Given the description of an element on the screen output the (x, y) to click on. 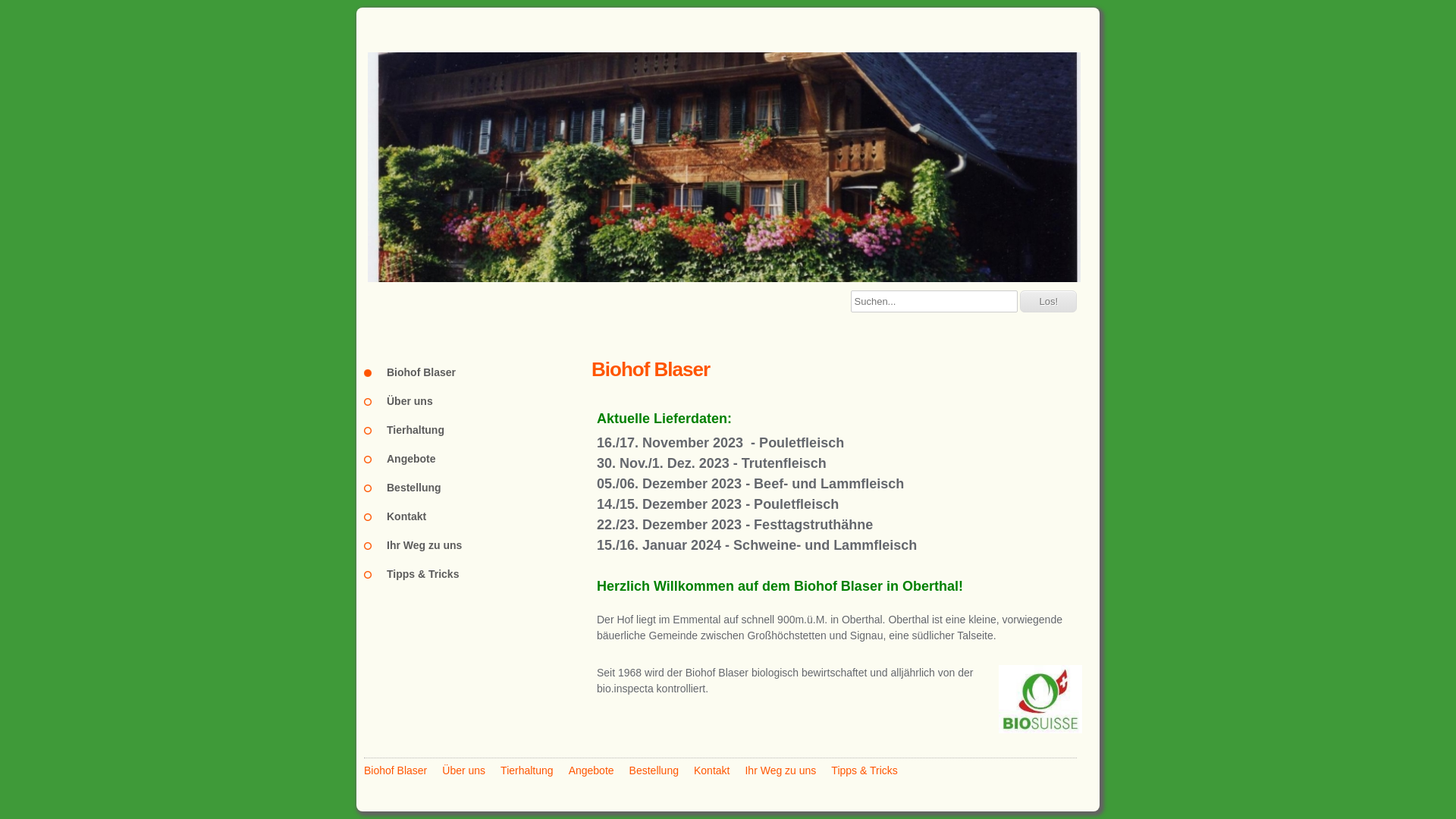
Angebote Element type: text (591, 770)
Ihr Weg zu uns Element type: text (477, 545)
Tipps & Tricks Element type: text (477, 573)
Kontakt Element type: text (477, 516)
Tierhaltung Element type: text (526, 770)
Los! Element type: text (1047, 301)
Bestellung Element type: text (477, 487)
Biohof Blaser Element type: text (395, 770)
Ihr Weg zu uns Element type: text (779, 770)
Biohof Blaser Element type: text (477, 372)
Tipps & Tricks Element type: text (864, 770)
Kontakt Element type: text (711, 770)
Tierhaltung Element type: text (477, 429)
Bestellung Element type: text (653, 770)
Angebote Element type: text (477, 458)
